Given the description of an element on the screen output the (x, y) to click on. 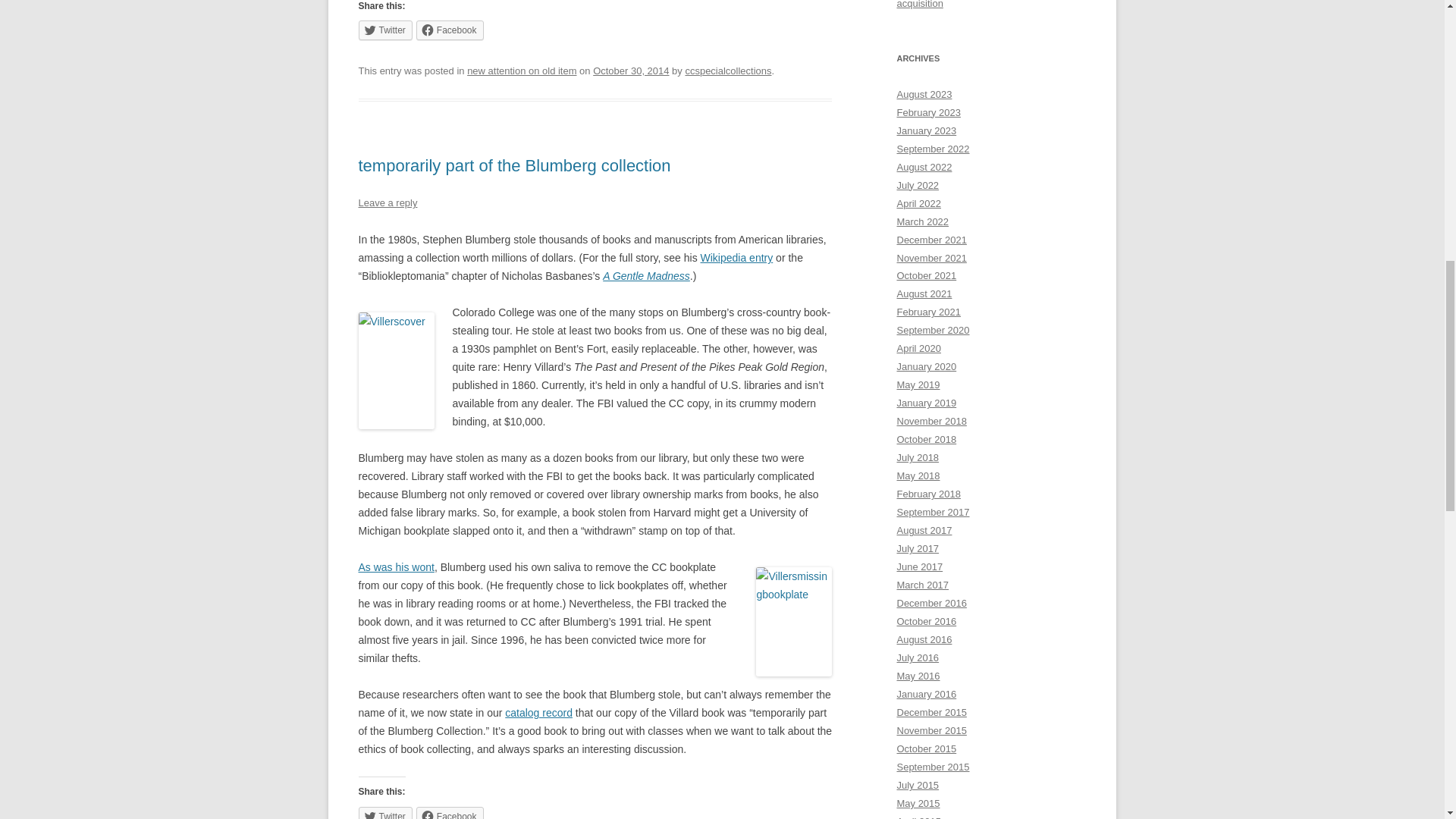
View all posts by ccspecialcollections (727, 70)
Click to share on Twitter (385, 30)
catalog record (538, 712)
Click to share on Facebook (449, 30)
Wikipedia entry (736, 257)
Click to share on Facebook (449, 812)
Twitter (385, 30)
Facebook (449, 812)
temporarily part of the Blumberg collection (513, 165)
As was his wont (395, 567)
ccspecialcollections (727, 70)
Leave a reply (387, 202)
Click to share on Twitter (385, 812)
new attention on old item (521, 70)
October 30, 2014 (630, 70)
